Given the description of an element on the screen output the (x, y) to click on. 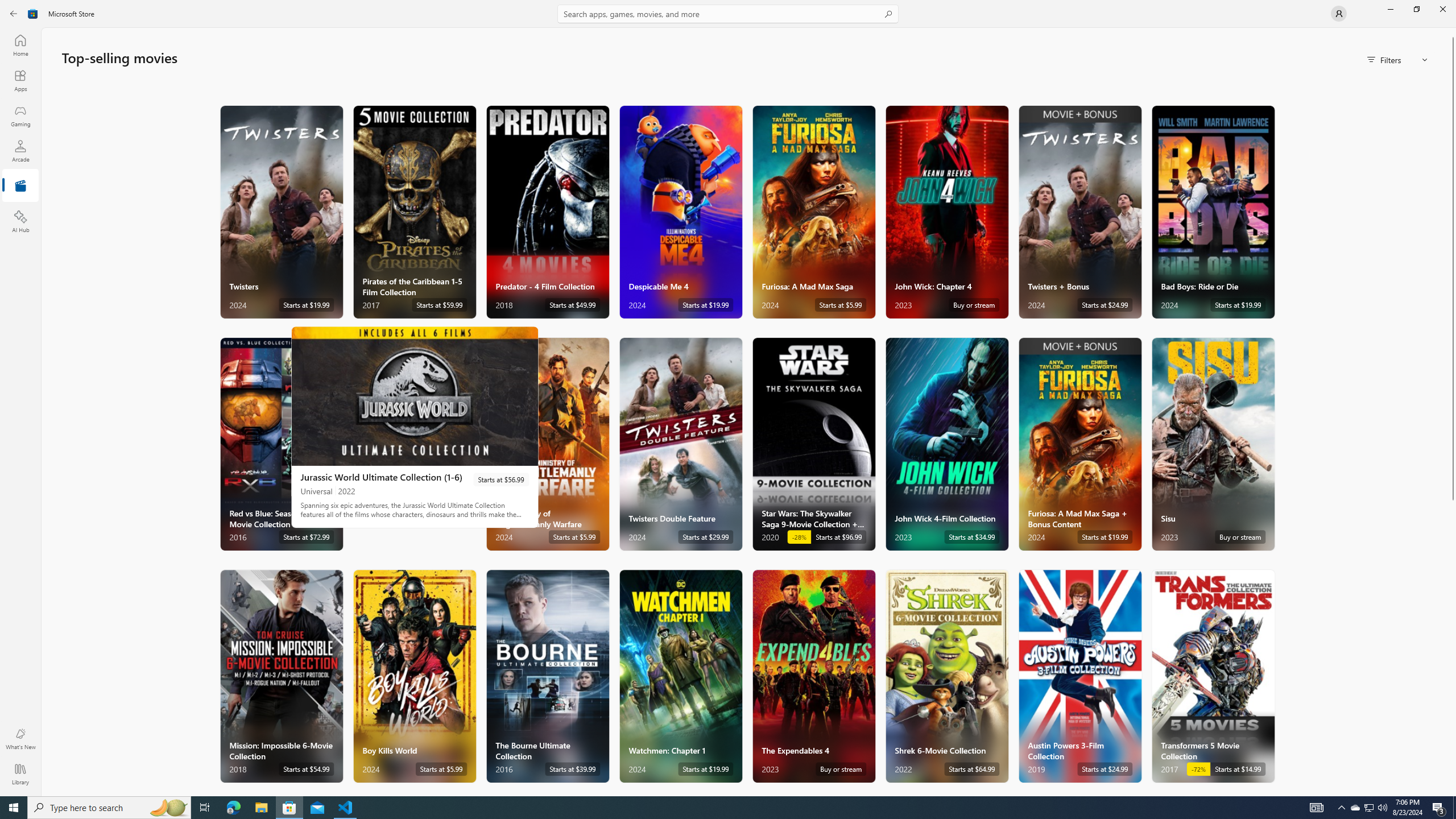
Twisters + Bonus. Starts at $24.99   (1079, 211)
Austin Powers 3-Film Collection. Starts at $24.99   (1079, 675)
